Given the description of an element on the screen output the (x, y) to click on. 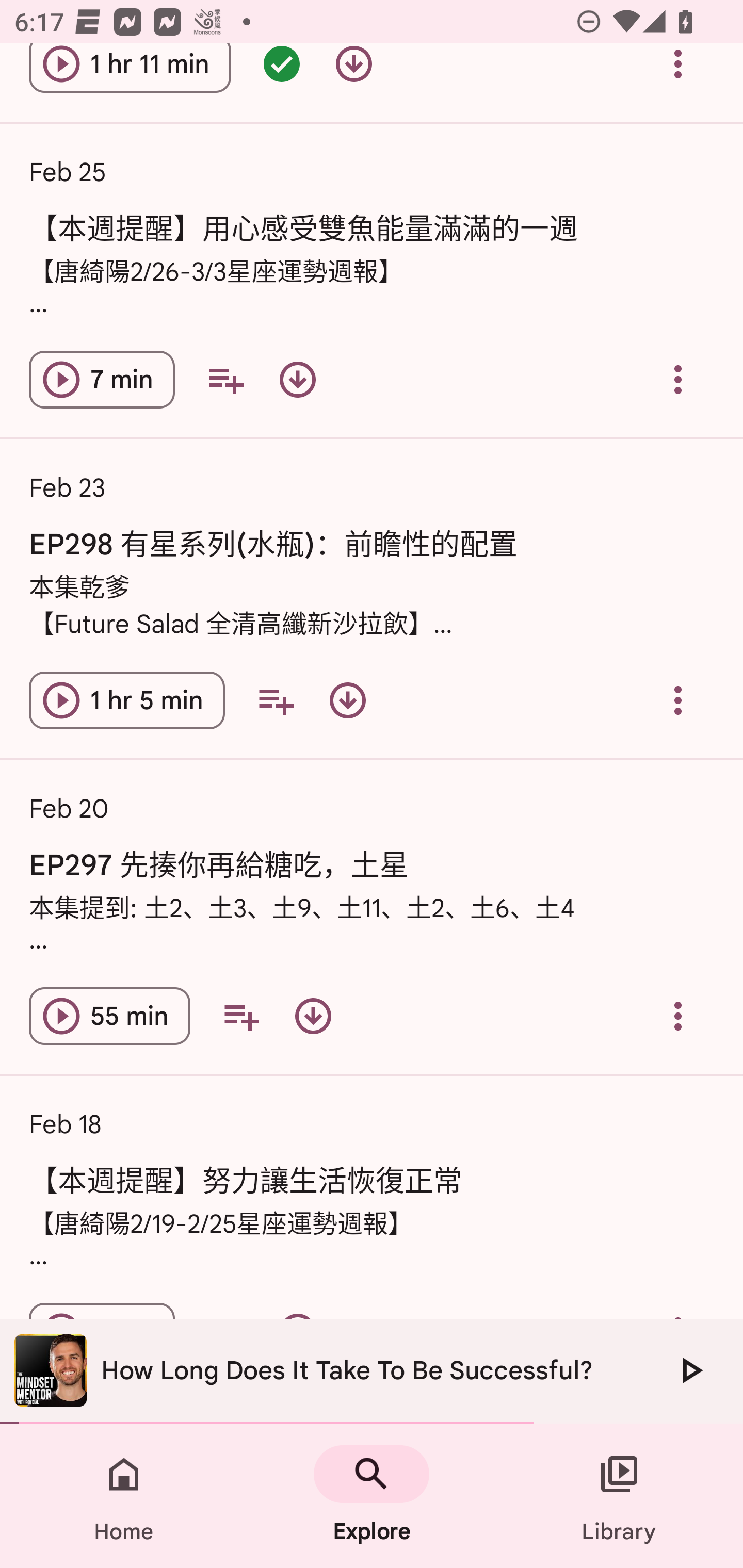
Play episode EP299 水星進雙魚的讀空氣指南 1 hr 11 min (129, 74)
Episode queued - double tap for options (281, 74)
Download episode (354, 74)
Overflow menu (677, 74)
Play episode 【本週提醒】用心感受雙魚能量滿滿的一週 7 min (101, 379)
Add to your queue (225, 379)
Download episode (297, 379)
Overflow menu (677, 379)
Play episode EP298 有星系列(水瓶)：前瞻性的配置 1 hr 5 min (126, 699)
Add to your queue (275, 699)
Download episode (347, 699)
Overflow menu (677, 699)
Play episode EP297 先揍你再給糖吃，土星 55 min (109, 1015)
Add to your queue (241, 1015)
Download episode (313, 1015)
Overflow menu (677, 1015)
Play (690, 1370)
Home (123, 1495)
Library (619, 1495)
